Given the description of an element on the screen output the (x, y) to click on. 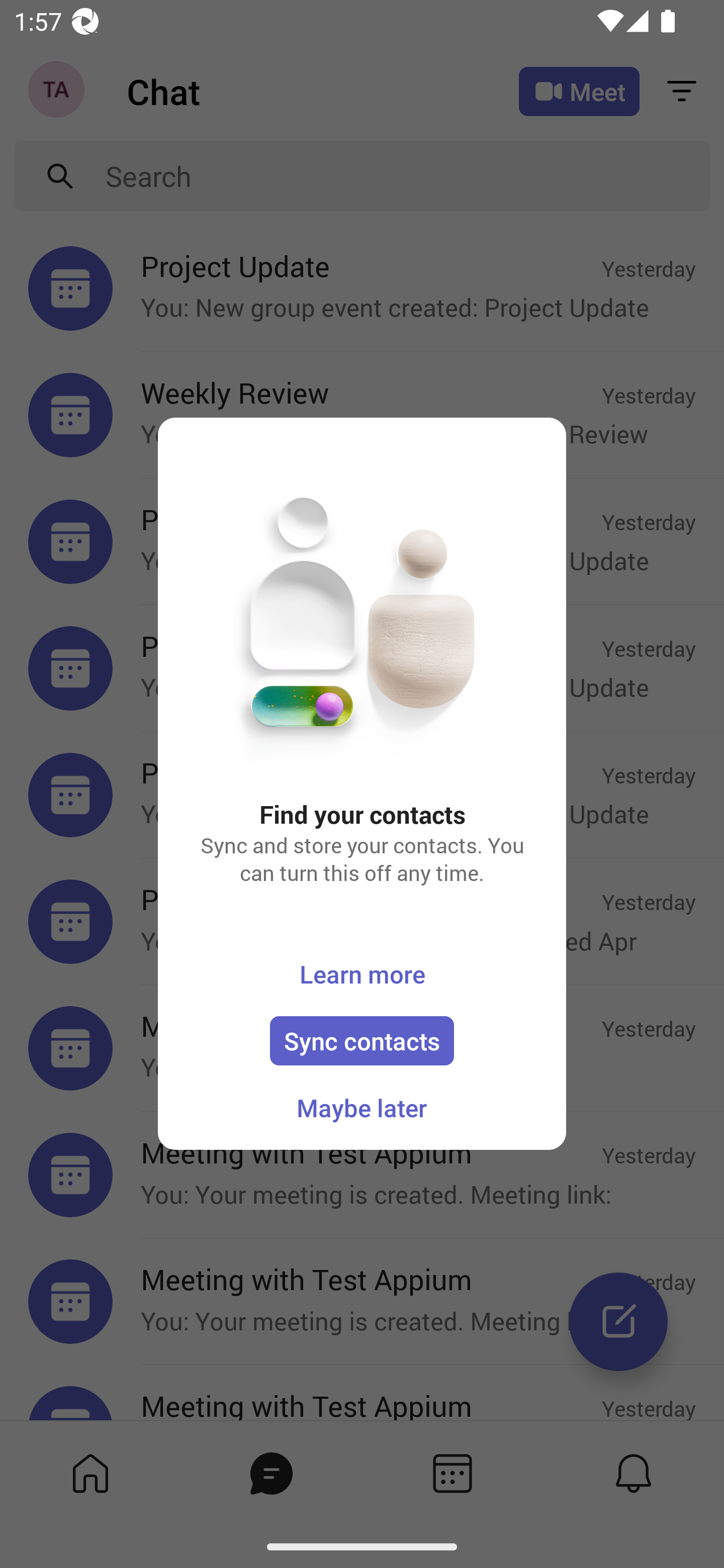
Learn more (361, 973)
Sync contacts Sync Contact button. (361, 1040)
Maybe later Maybe later button. (361, 1107)
